Given the description of an element on the screen output the (x, y) to click on. 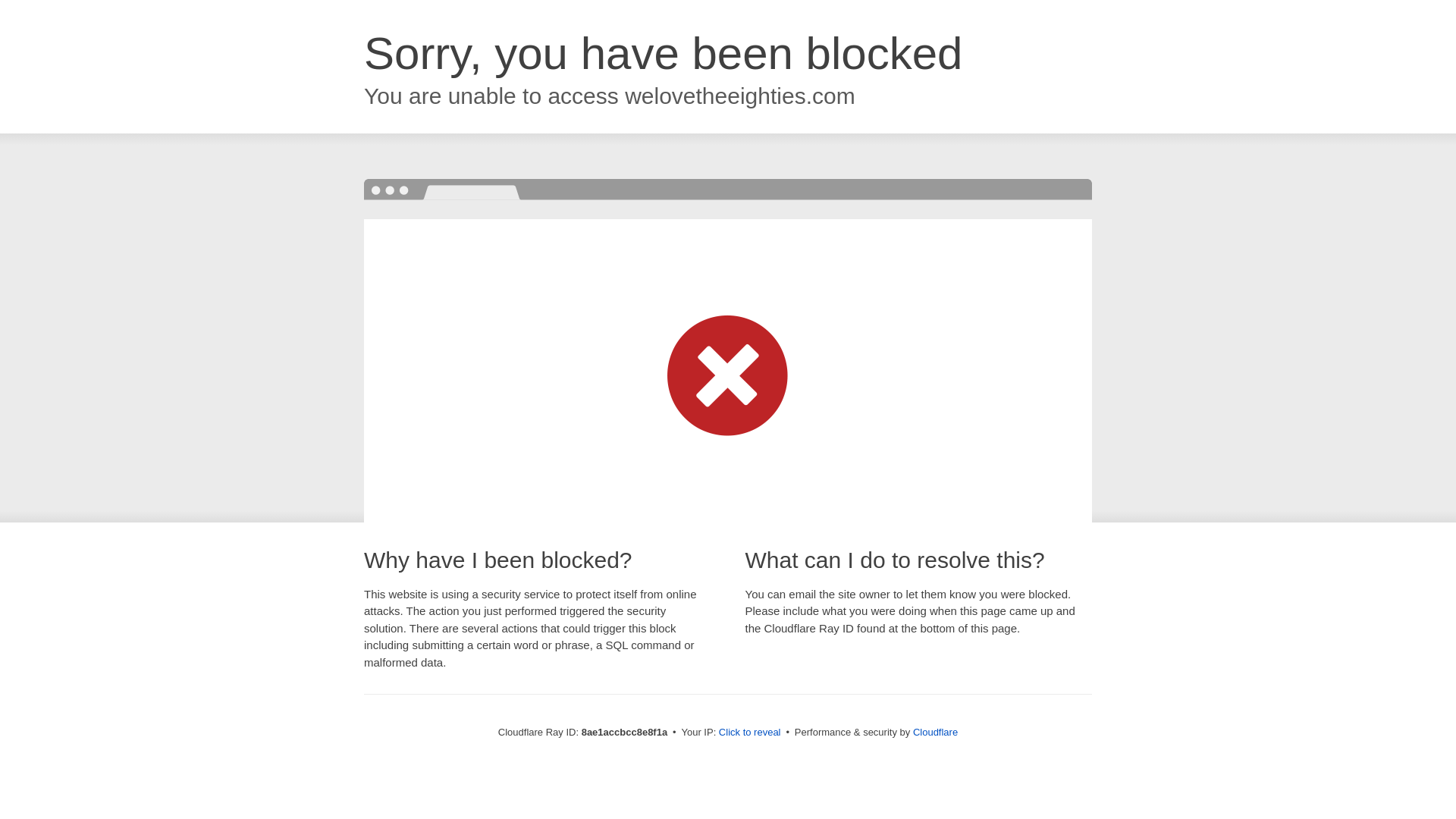
Click to reveal (749, 732)
Cloudflare (935, 731)
